Given the description of an element on the screen output the (x, y) to click on. 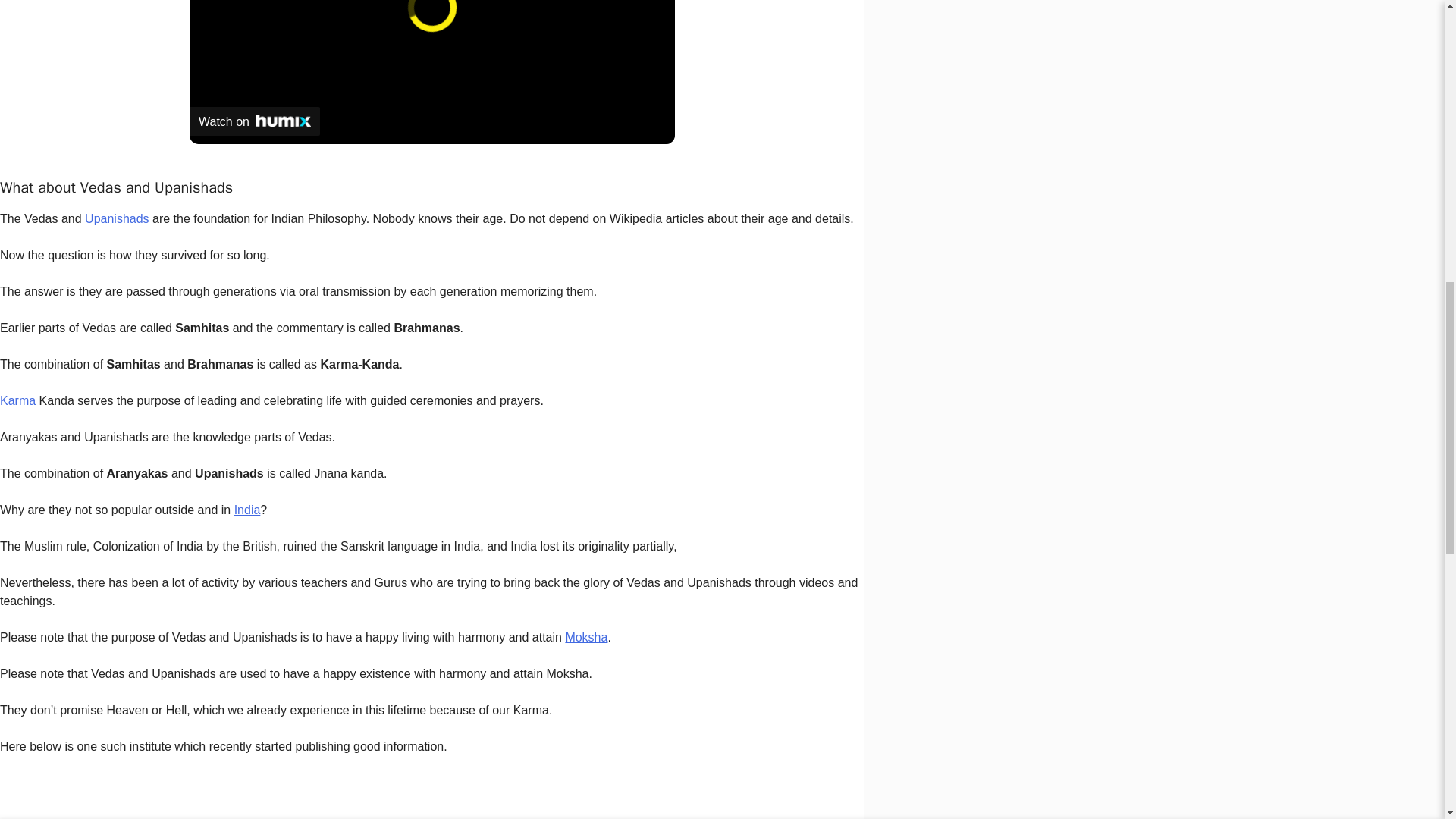
India (247, 509)
Scroll back to top (1406, 720)
Moksha (585, 636)
Karma (17, 400)
Watch on (254, 120)
Upanishad (113, 218)
